Given the description of an element on the screen output the (x, y) to click on. 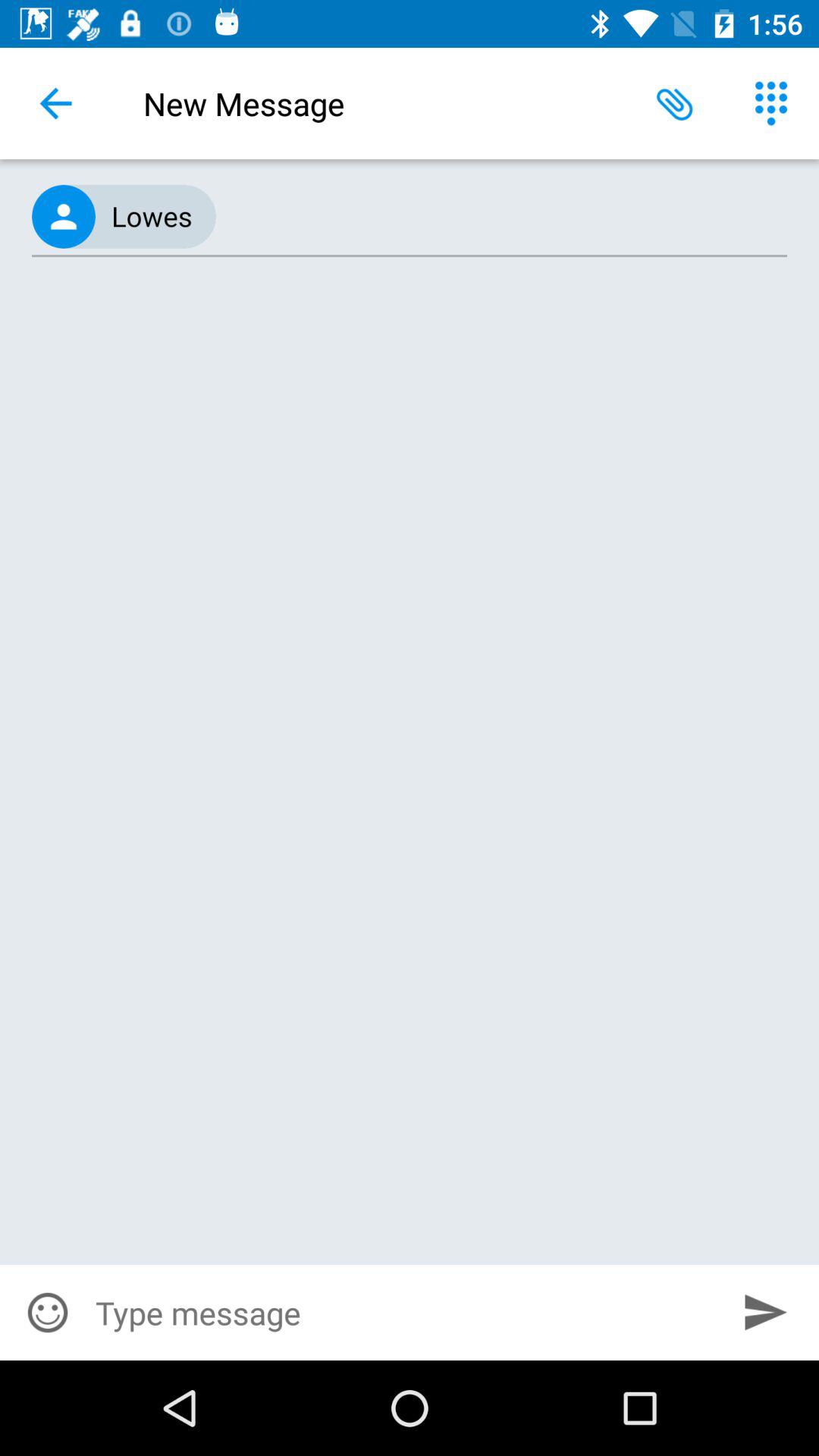
tap the item at the bottom right corner (766, 1312)
